Given the description of an element on the screen output the (x, y) to click on. 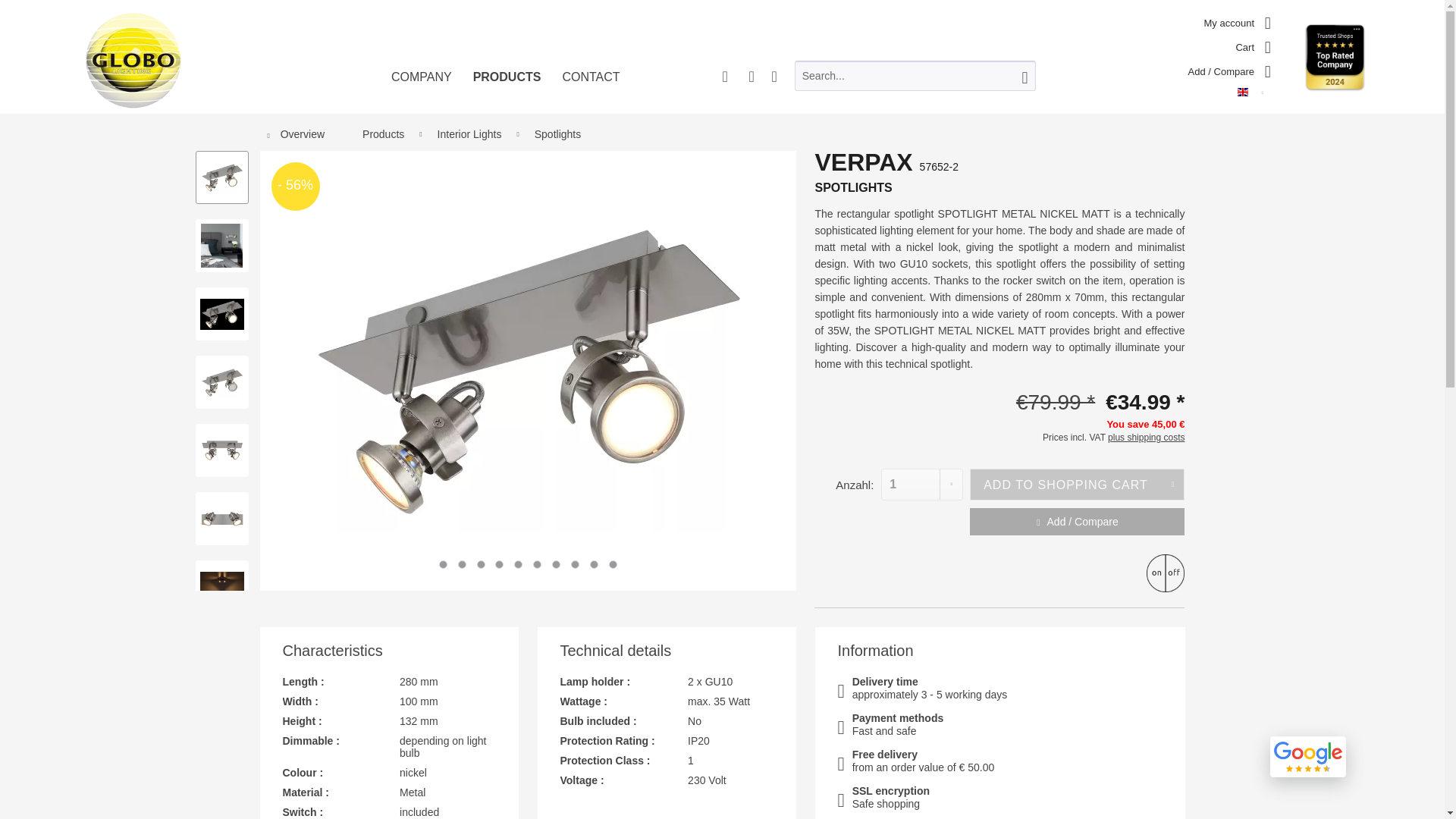
Contact (590, 88)
My account (1237, 19)
Wish list (1229, 68)
My account (1237, 19)
CONTACT (590, 88)
Company (421, 88)
Shopping cart (1252, 43)
Globo Lighting - Switch to homepage (133, 59)
COMPANY (421, 88)
PRODUCTS (507, 88)
